Given the description of an element on the screen output the (x, y) to click on. 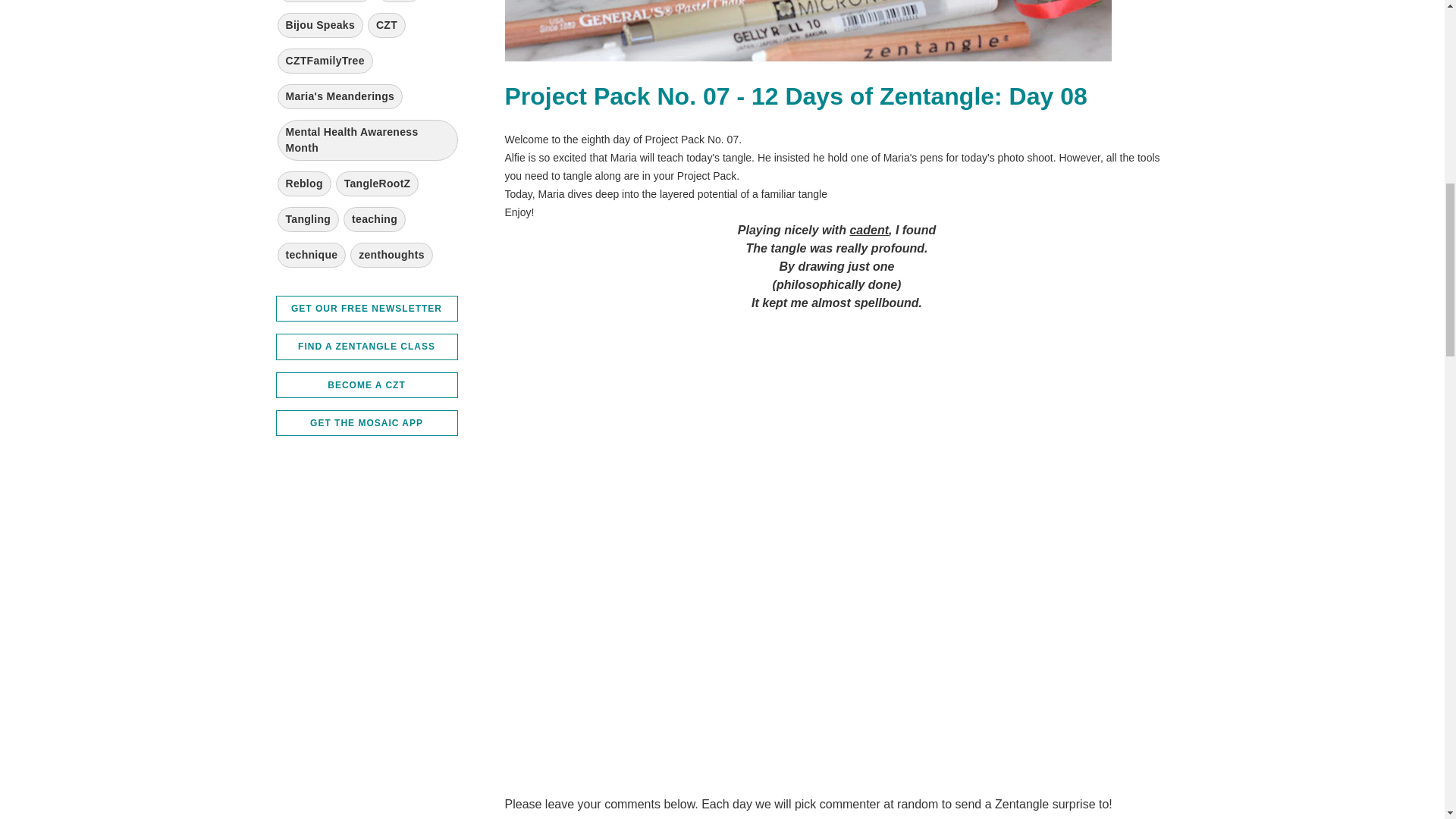
Show articles tagged Back to Basics (325, 1)
Show articles tagged Reblog (304, 183)
Show articles tagged Bijou (399, 1)
Show articles tagged teaching (374, 219)
Show articles tagged CZTFamilyTree (325, 60)
Show articles tagged zenthoughts (391, 254)
Show articles tagged Tangling (308, 219)
Show articles tagged CZT (387, 25)
Show articles tagged Maria's Meanderings (340, 96)
Show articles tagged TangleRootZ (377, 183)
Show articles tagged Bijou Speaks (321, 25)
Show articles tagged Mental Health Awareness Month (368, 139)
Show articles tagged technique (312, 254)
